Given the description of an element on the screen output the (x, y) to click on. 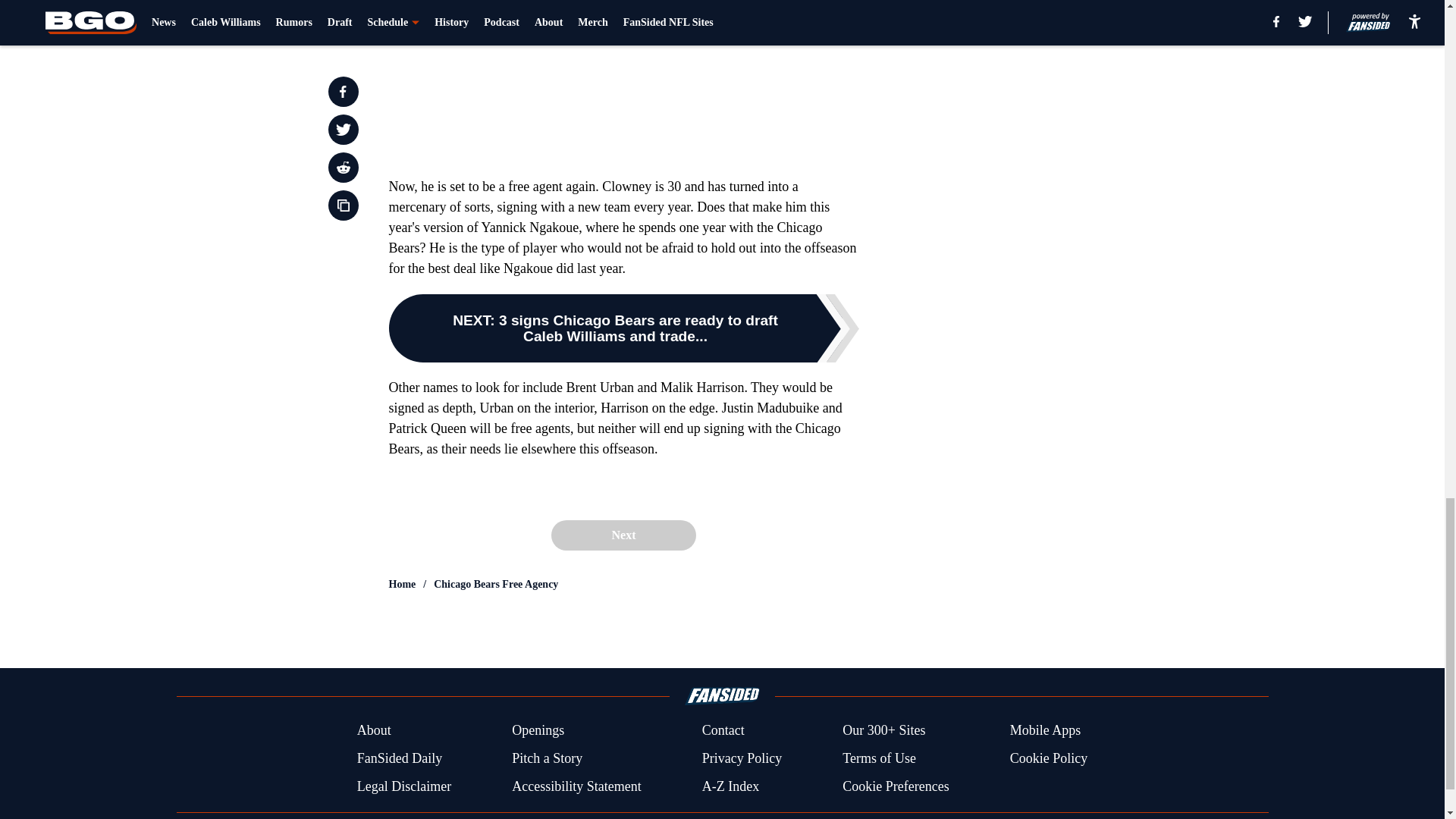
Pitch a Story (547, 758)
Home (401, 584)
Next (622, 535)
Openings (538, 730)
Mobile Apps (1045, 730)
Chicago Bears Free Agency (495, 584)
FanSided Daily (399, 758)
Contact (722, 730)
About (373, 730)
